Given the description of an element on the screen output the (x, y) to click on. 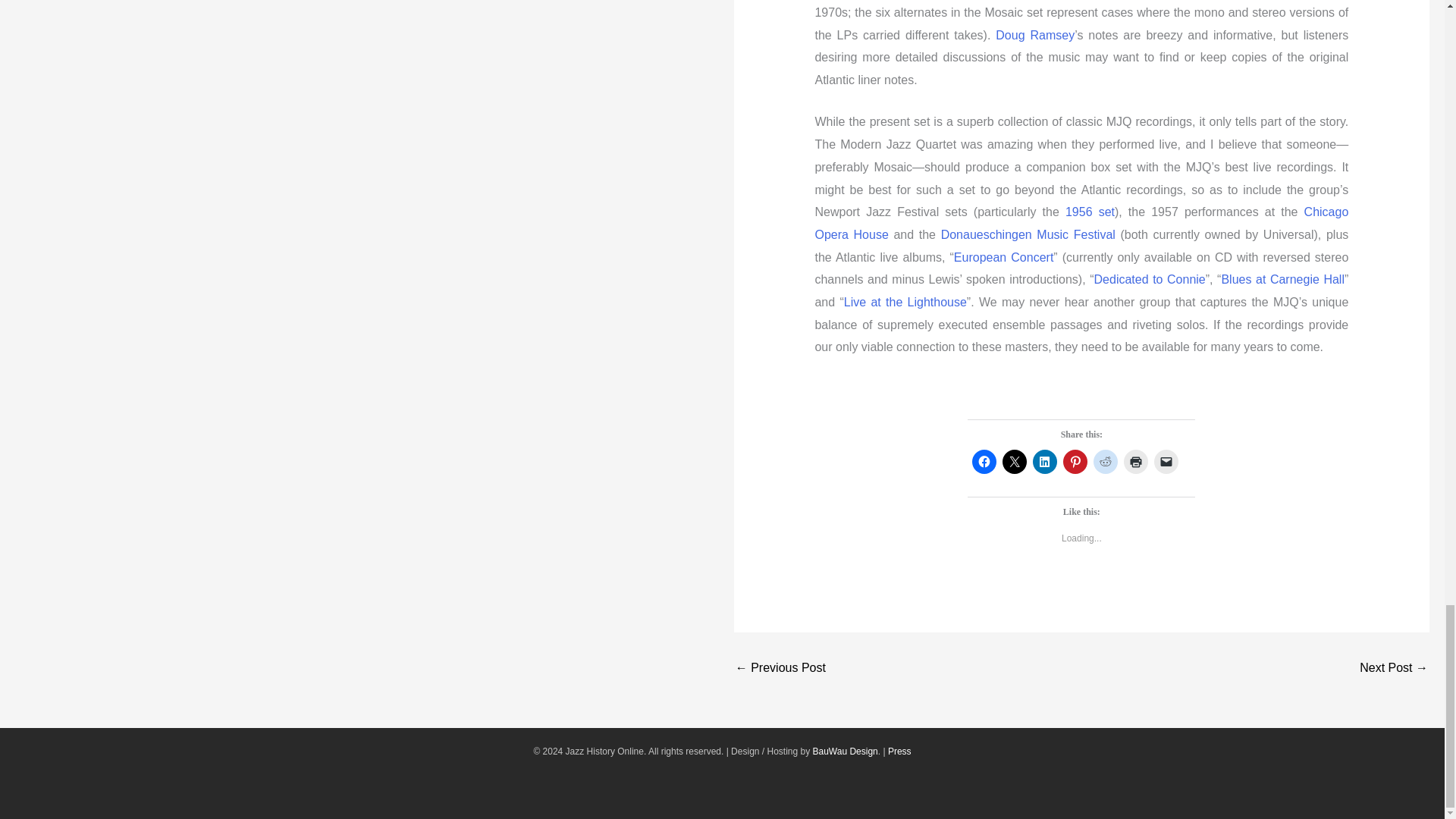
Click to print (1136, 461)
Click to share on Pinterest (1074, 461)
Click to email a link to a friend (1165, 461)
Click to share on X (1014, 461)
Click to share on Facebook (983, 461)
Click to share on LinkedIn (1044, 461)
Click to share on Reddit (1105, 461)
